Given the description of an element on the screen output the (x, y) to click on. 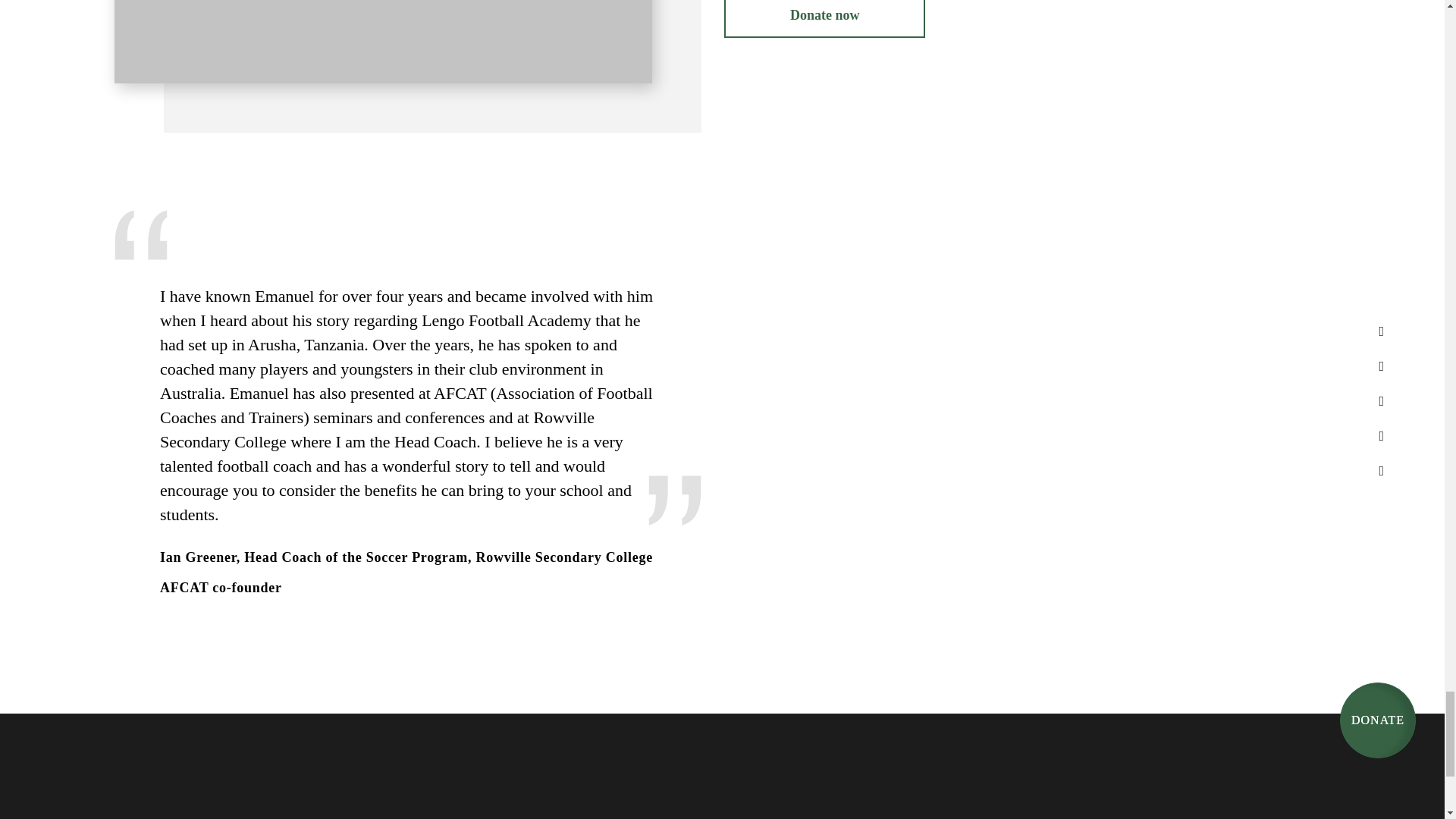
Donate now (823, 18)
